Given the description of an element on the screen output the (x, y) to click on. 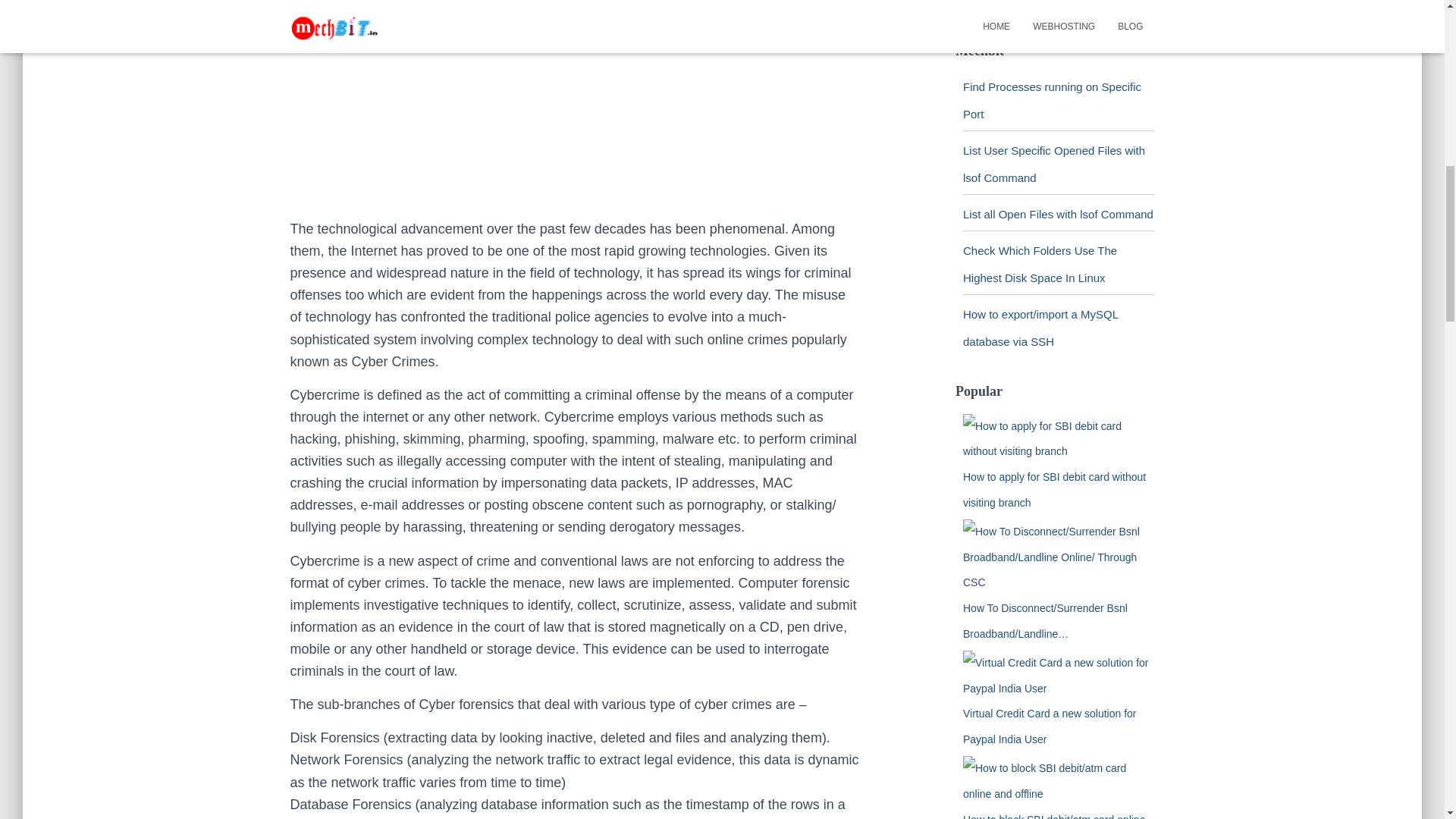
List all Open Files with lsof Command (1057, 214)
Virtual Credit Card a new solution for Paypal India User (1049, 726)
List User Specific Opened Files with lsof Command (1053, 164)
Permanent Link to Find Processes running on Specific Port (1051, 100)
How to apply for SBI debit card without visiting branch (1053, 489)
How to apply for SBI debit card without visiting branch (1058, 439)
Find Processes running on Specific Port (1051, 100)
Permanent Link to List all Open Files with lsof Command (1057, 214)
